Given the description of an element on the screen output the (x, y) to click on. 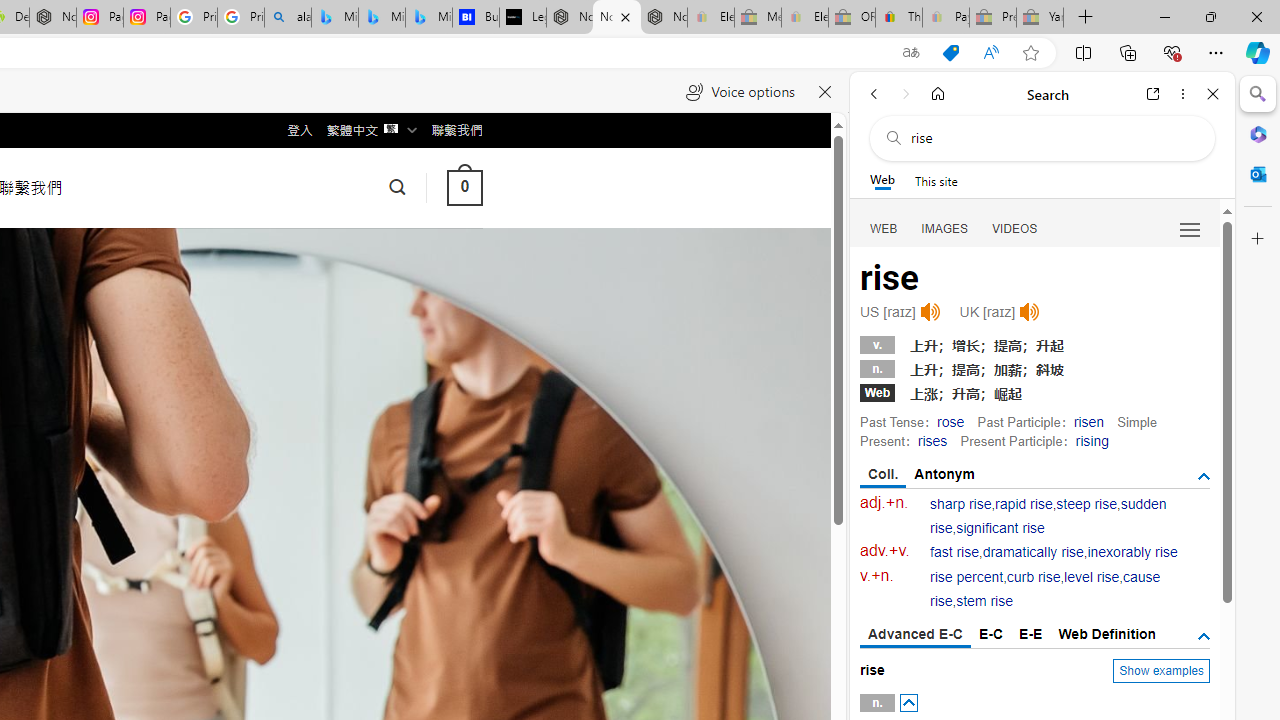
inexorably rise (1131, 552)
Web Definition (1106, 633)
rising (1091, 440)
Voice options (740, 92)
level rise (1091, 577)
Press Room - eBay Inc. - Sleeping (993, 17)
